Given the description of an element on the screen output the (x, y) to click on. 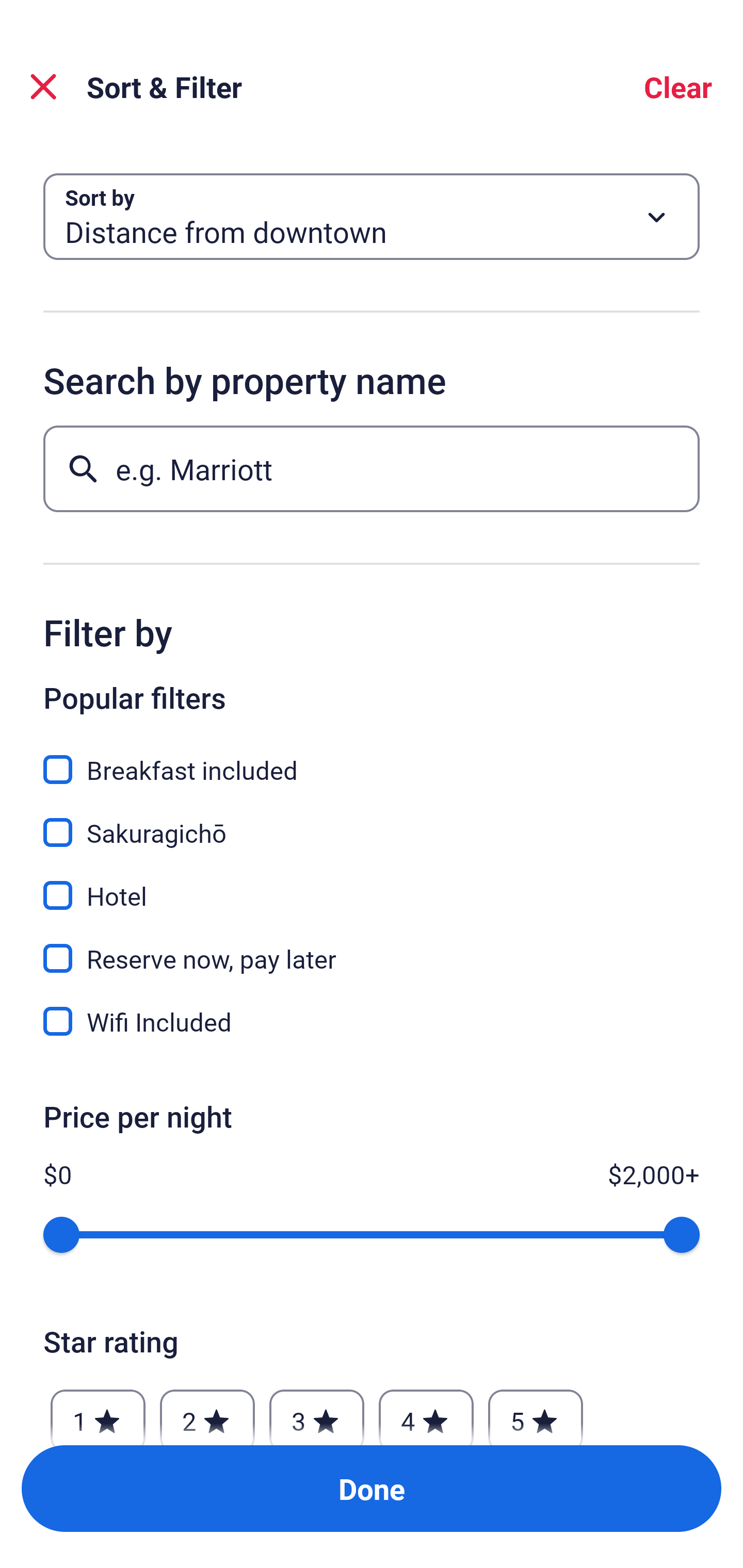
Close Sort and Filter (43, 86)
Clear (677, 86)
Sort by Button Distance from downtown (371, 217)
e.g. Marriott Button (371, 468)
Breakfast included, Breakfast included (371, 757)
Sakuragichō, Sakuragichō (371, 821)
Hotel, Hotel (371, 883)
Reserve now, pay later, Reserve now, pay later (371, 946)
Wifi Included, Wifi Included (371, 1021)
1 (97, 1411)
2 (206, 1411)
3 (316, 1411)
4 (426, 1411)
5 (535, 1411)
Apply and close Sort and Filter Done (371, 1488)
